Given the description of an element on the screen output the (x, y) to click on. 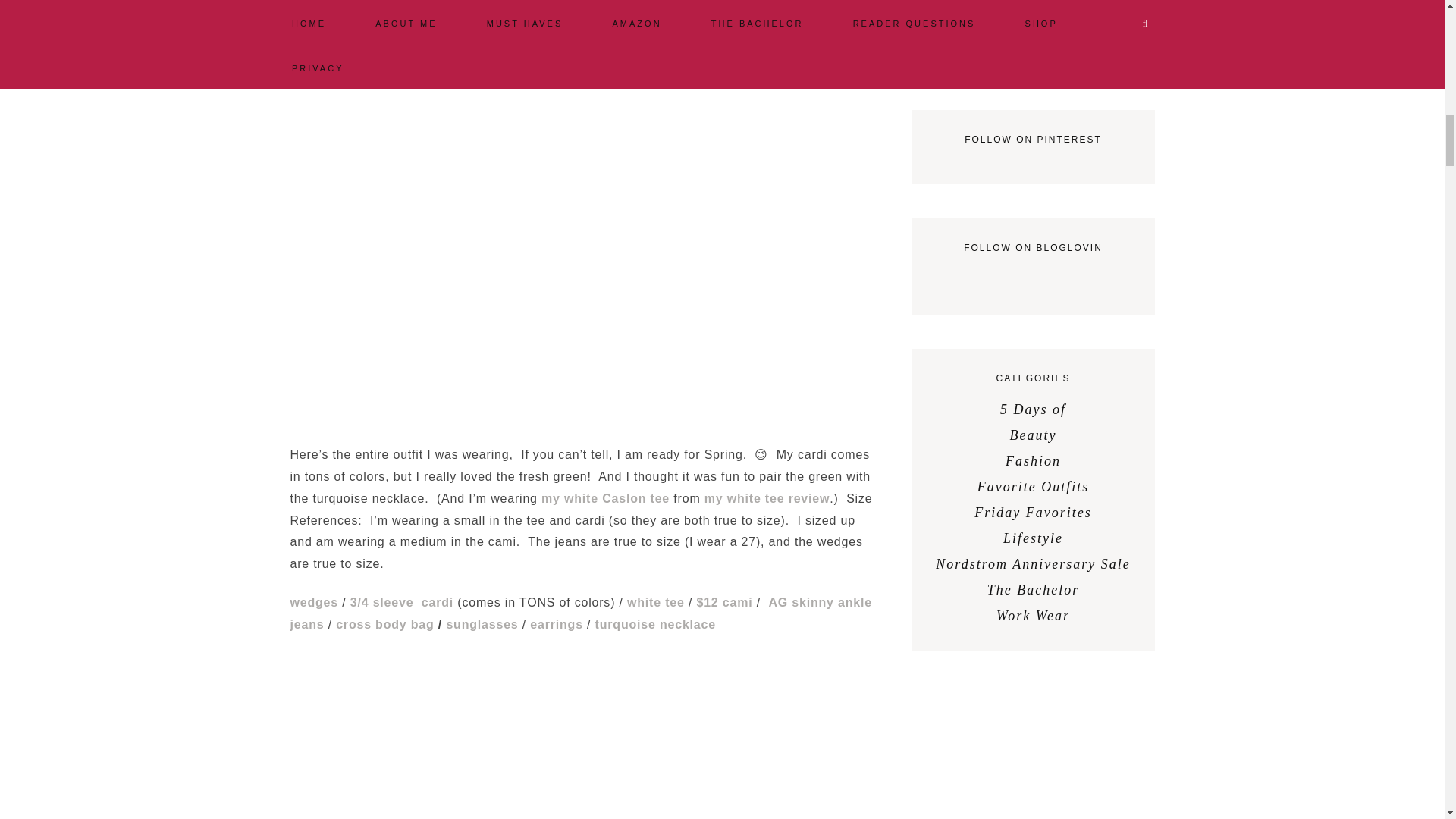
my white tee review (766, 498)
cross body bag (384, 624)
white tee (655, 602)
sunglasses (481, 624)
turquoise necklace (655, 624)
wedges (313, 602)
my white Caslon tee (605, 498)
AG skinny ankle jeans (579, 613)
earrings (556, 624)
